Given the description of an element on the screen output the (x, y) to click on. 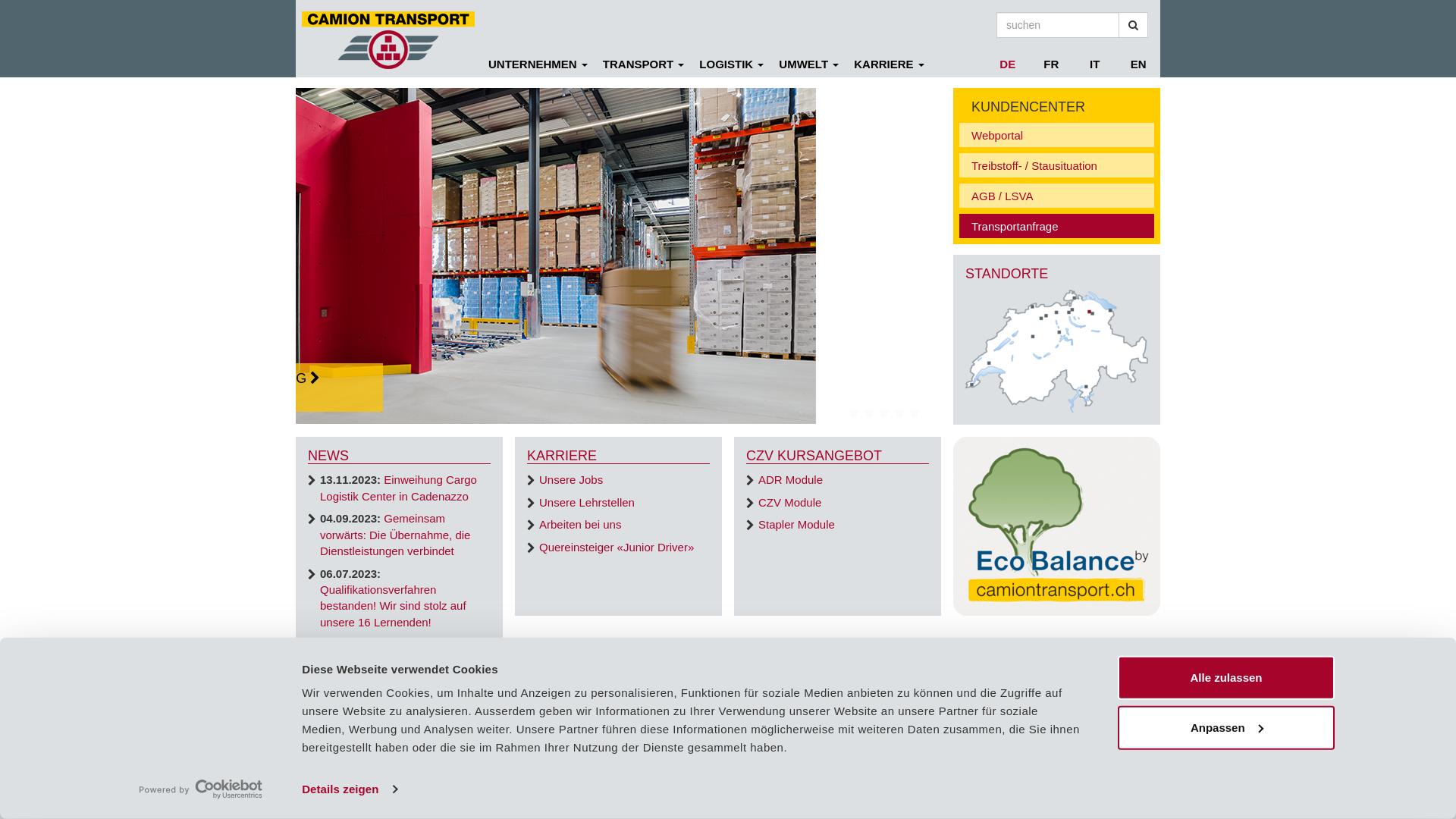
Unsere Jobs Element type: text (570, 479)
UNTERNEHMEN Element type: text (537, 64)
IT Element type: text (1095, 64)
info@camiontransport.ch Element type: text (688, 785)
CAMION TRANSPORT auf Instagram Element type: hover (1114, 790)
ADR Module Element type: text (790, 479)
+41 71 929 24 24 Element type: text (594, 785)
KARRIERE Element type: text (561, 455)
Webportal Element type: text (1061, 135)
Details zeigen Element type: text (348, 789)
Stapler Module Element type: text (796, 523)
Lieferantenkodex Element type: text (443, 802)
UMWELT Element type: text (808, 64)
KARRIERE Element type: text (888, 64)
CZV Module Element type: text (789, 501)
Einweihung Cargo Logistik Center in Cadenazzo Element type: text (398, 487)
FR Element type: text (1051, 64)
DE Element type: text (1007, 64)
NEWS Element type: text (327, 455)
LOGISTIK Element type: text (731, 64)
CAMION TRANSPORT auf Facebook Element type: hover (1087, 790)
Treibstoff- / Stausituation Element type: text (1061, 165)
Impressum Element type: text (317, 802)
EN Element type: text (1138, 64)
Arbeiten bei uns Element type: text (580, 523)
CAMION TRANSPORT auf Youtube Element type: hover (1146, 790)
CZV KURSANGEBOT Element type: text (813, 455)
AGB / LSVA Element type: text (1061, 195)
TRANSPORT Element type: text (643, 64)
STANDORTE Element type: text (1006, 273)
LAGERHALTUNG Element type: text (618, 255)
Anpassen Element type: text (1225, 727)
Unsere Lehrstellen Element type: text (586, 501)
Alle zulassen Element type: text (1225, 677)
Datenschutz Element type: text (374, 802)
CAMION TRANSPORT auf LinkedIn Element type: hover (1060, 790)
Transportanfrage Element type: text (1061, 226)
